Given the description of an element on the screen output the (x, y) to click on. 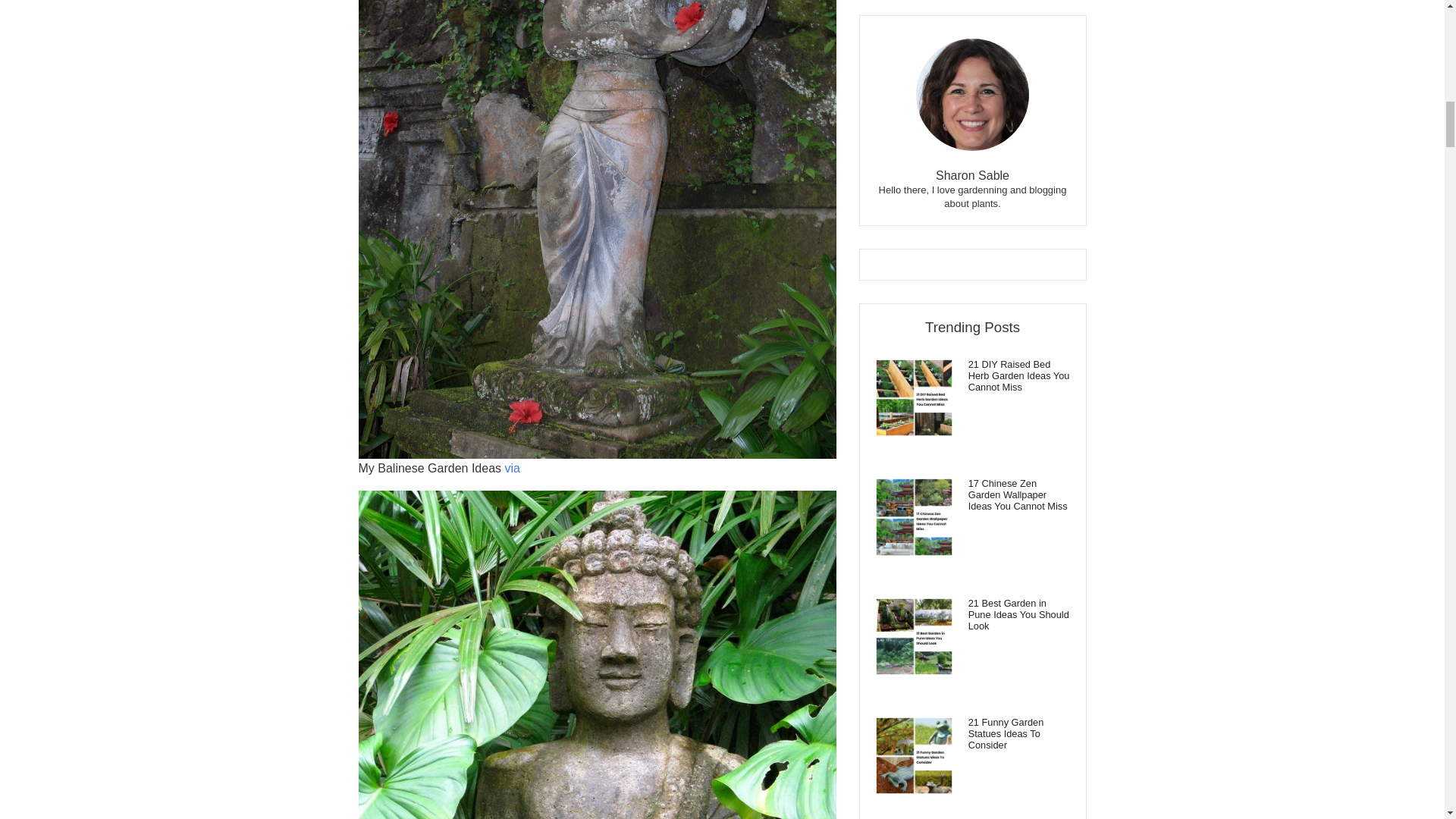
via (512, 468)
